Given the description of an element on the screen output the (x, y) to click on. 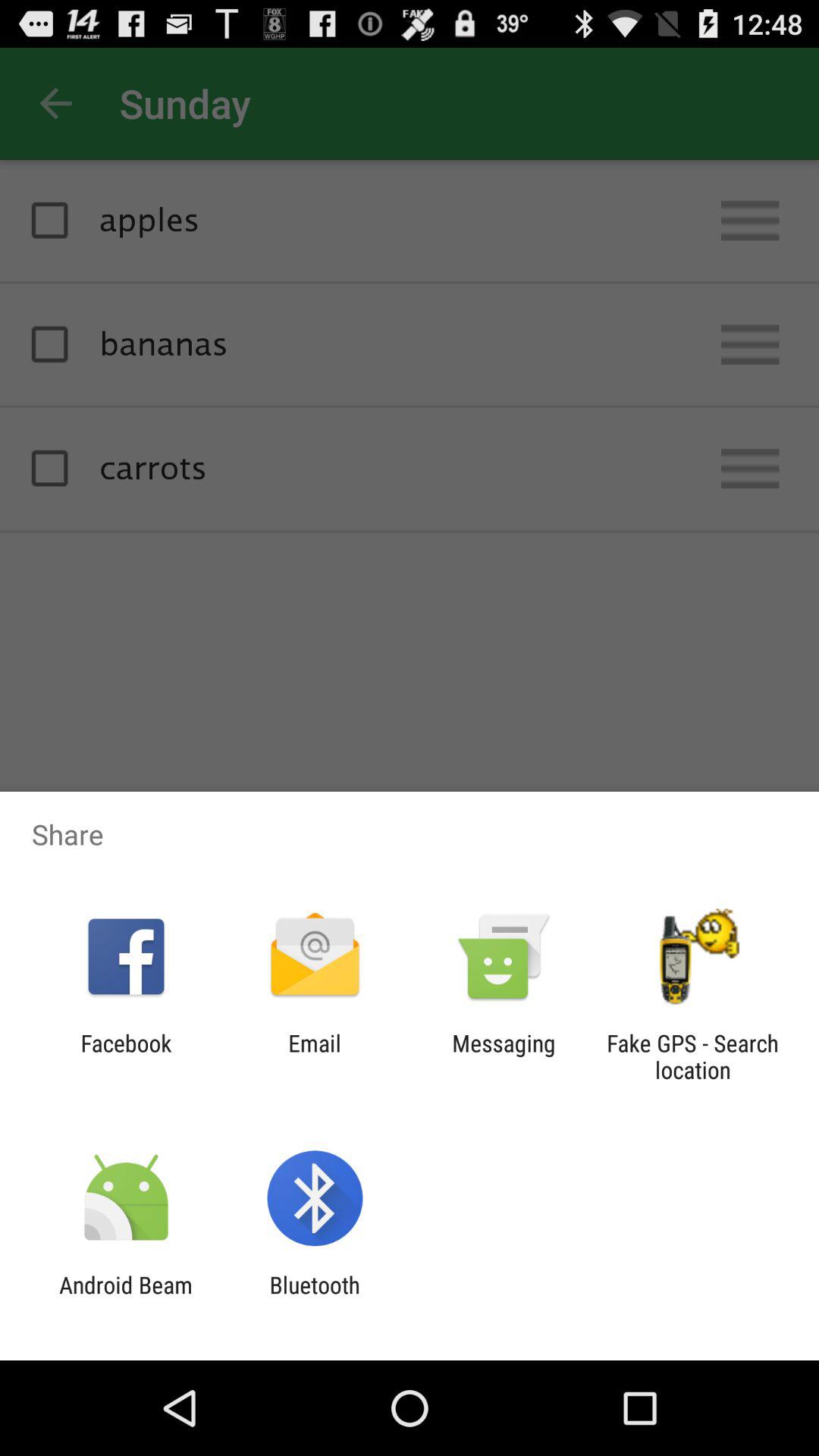
choose item to the right of android beam icon (314, 1298)
